Given the description of an element on the screen output the (x, y) to click on. 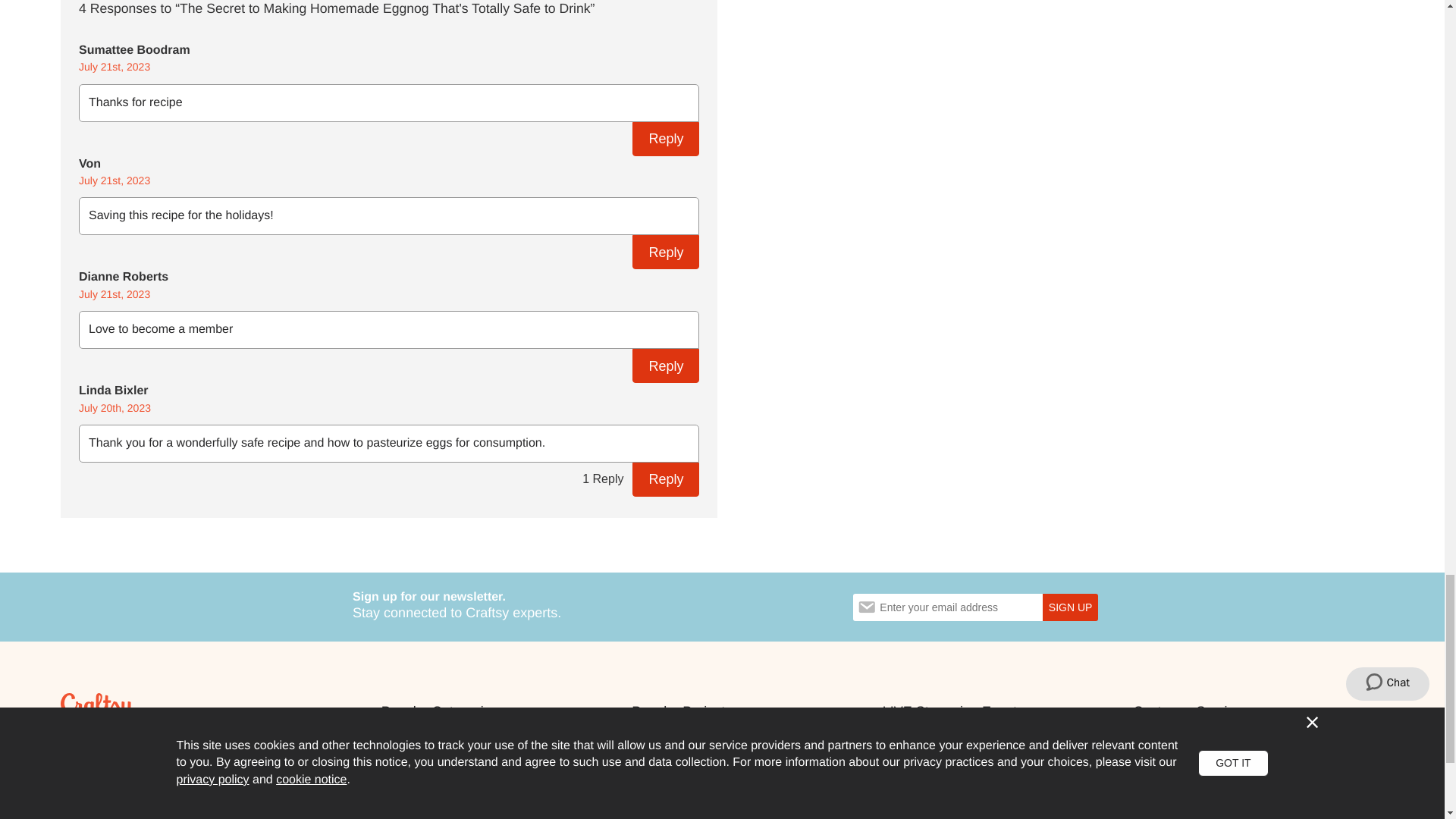
Home (97, 706)
Text Link Badge to Apple (110, 813)
Reply (664, 479)
1 Reply (602, 479)
Sign Up (1069, 606)
Reply (664, 252)
Sign Up (1069, 606)
Reply (664, 365)
Reply (664, 139)
